Given the description of an element on the screen output the (x, y) to click on. 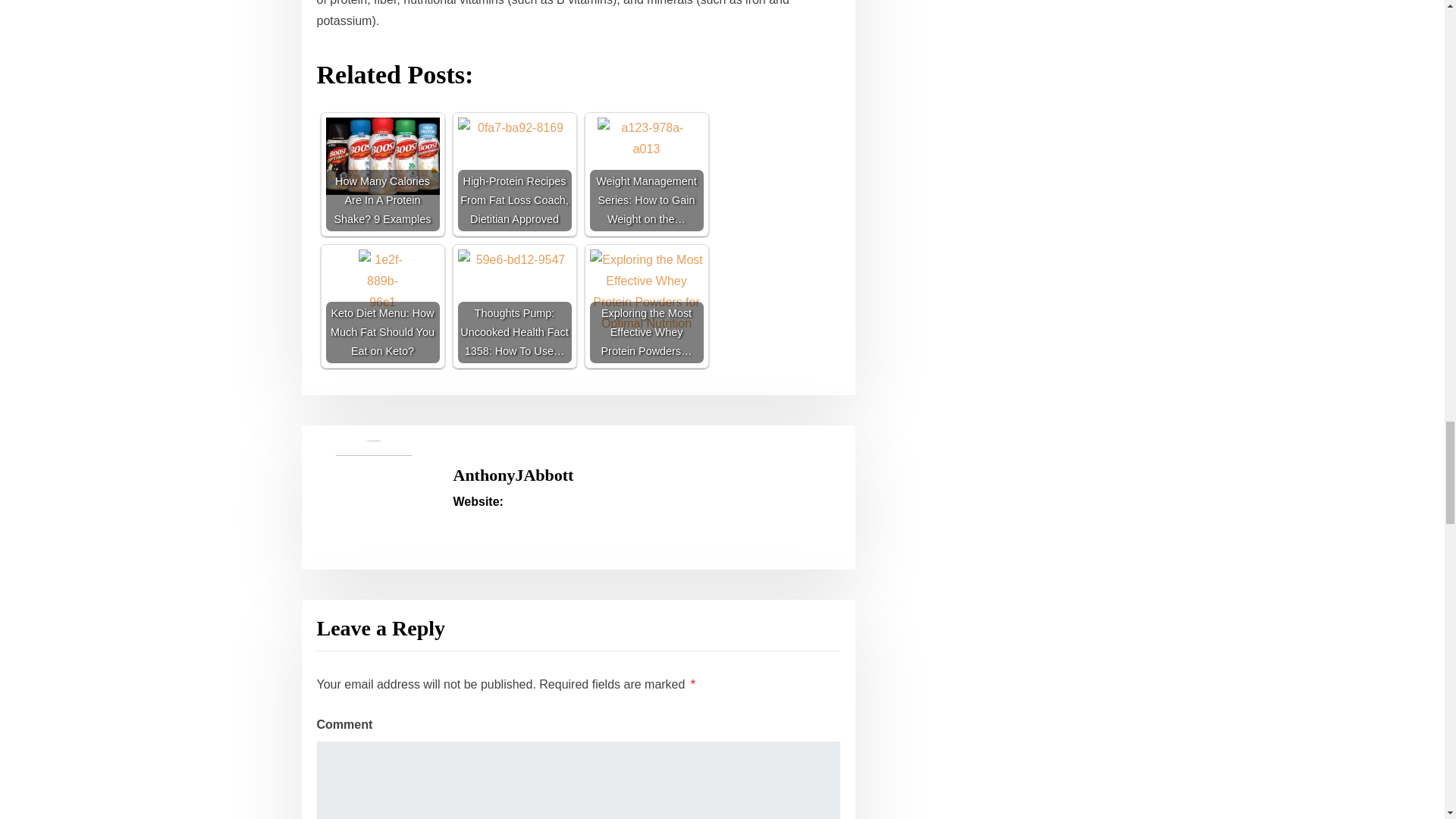
High-Protein Recipes From Fat Loss Coach, Dietitian Approved (515, 155)
Keto Diet Menu: How Much Fat Should You Eat on Keto? (382, 306)
How Many Calories Are In A Protein Shake? 9 Examples (382, 173)
How Many Calories Are In A Protein Shake? 9 Examples (382, 155)
High-Protein Recipes From Fat Loss Coach, Dietitian Approved (515, 173)
